Given the description of an element on the screen output the (x, y) to click on. 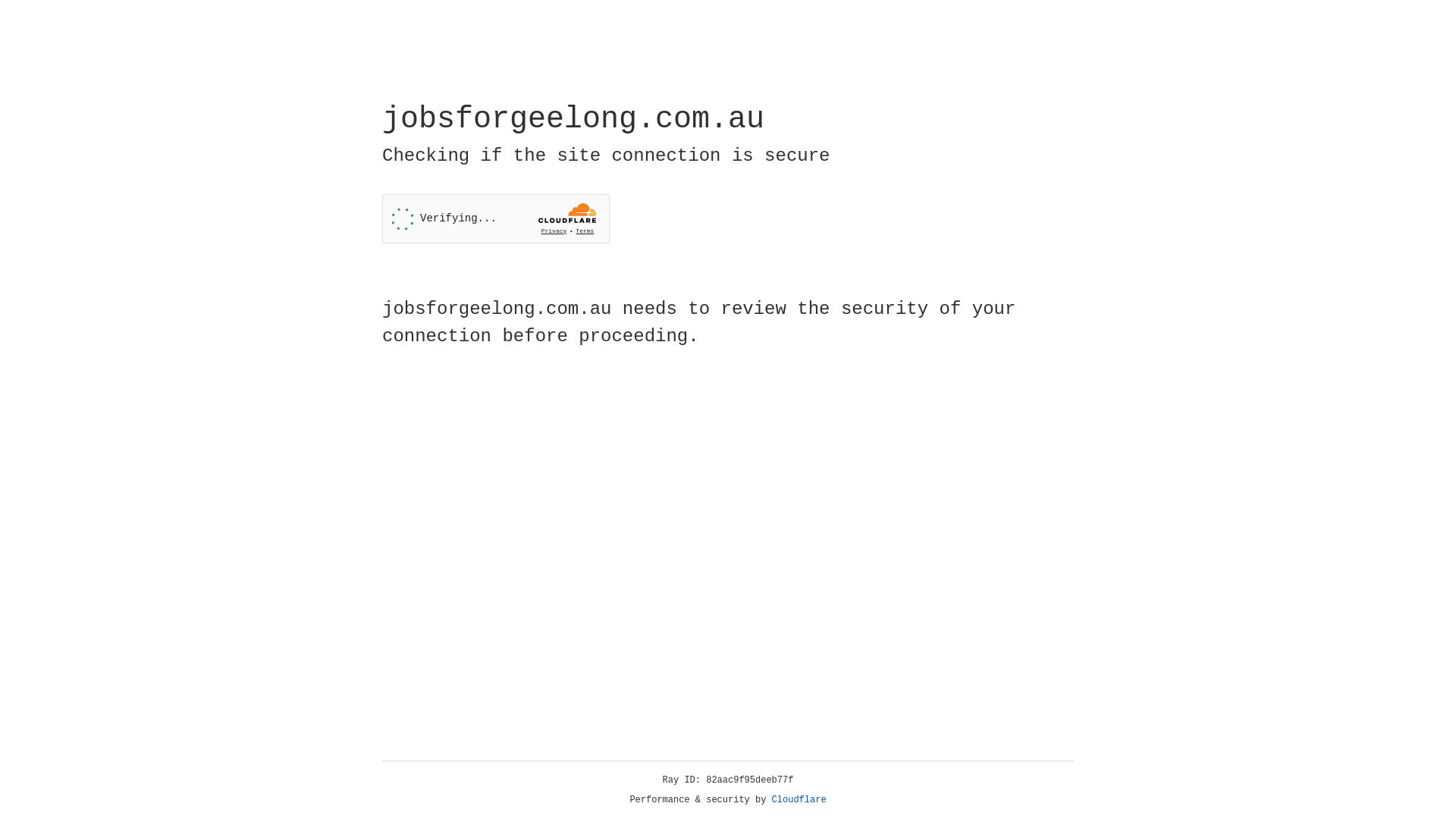
Widget containing a Cloudflare security challenge Element type: hover (495, 218)
Cloudflare Element type: text (798, 799)
